Given the description of an element on the screen output the (x, y) to click on. 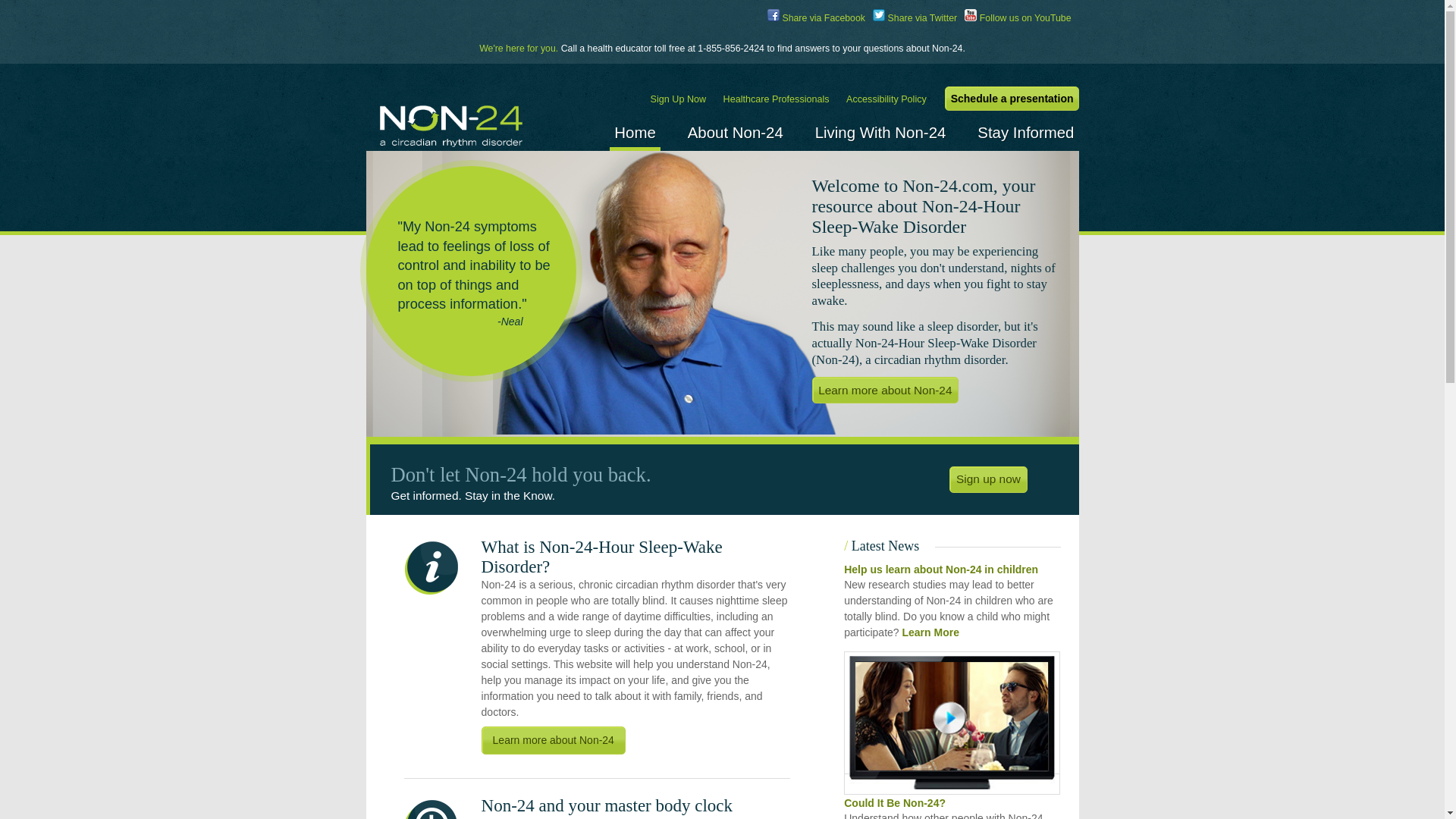
Home Element type: text (634, 132)
Share via Twitter Element type: text (914, 17)
Accessibility Policy Element type: text (888, 99)
Share via Facebook Element type: text (816, 17)
Learn more about Non-24 Element type: text (884, 389)
About Non-24 Element type: text (735, 132)
Sign Up Now Element type: text (680, 99)
Living With Non-24 Element type: text (880, 132)
Follow us on YouTube Element type: text (1017, 17)
Healthcare Professionals Element type: text (778, 99)
Stay Informed Element type: text (1025, 132)
Schedule a presentation Element type: text (1011, 98)
